Given the description of an element on the screen output the (x, y) to click on. 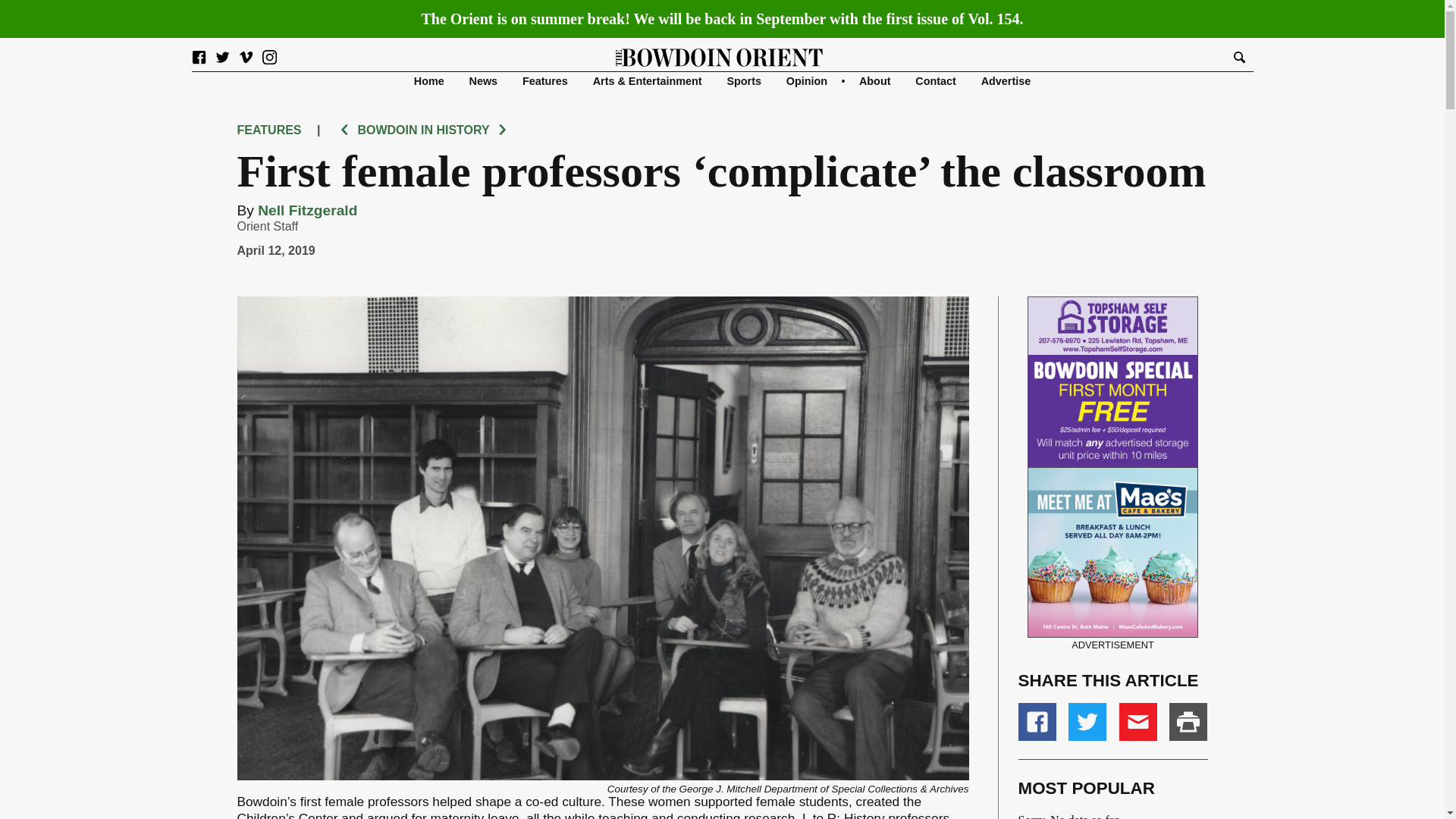
FEATURES (268, 129)
BOWDOIN IN HISTORY (422, 129)
Features (544, 80)
News (482, 80)
The Bowdoin Orient - Home (719, 56)
Advertise (1005, 80)
Contact (935, 80)
Nell Fitzgerald (306, 210)
Home (428, 80)
Sports (743, 80)
Share on Facebook (1036, 721)
Share via Email (1138, 721)
Opinion (806, 80)
Share on Twitter (1087, 721)
About (875, 80)
